Given the description of an element on the screen output the (x, y) to click on. 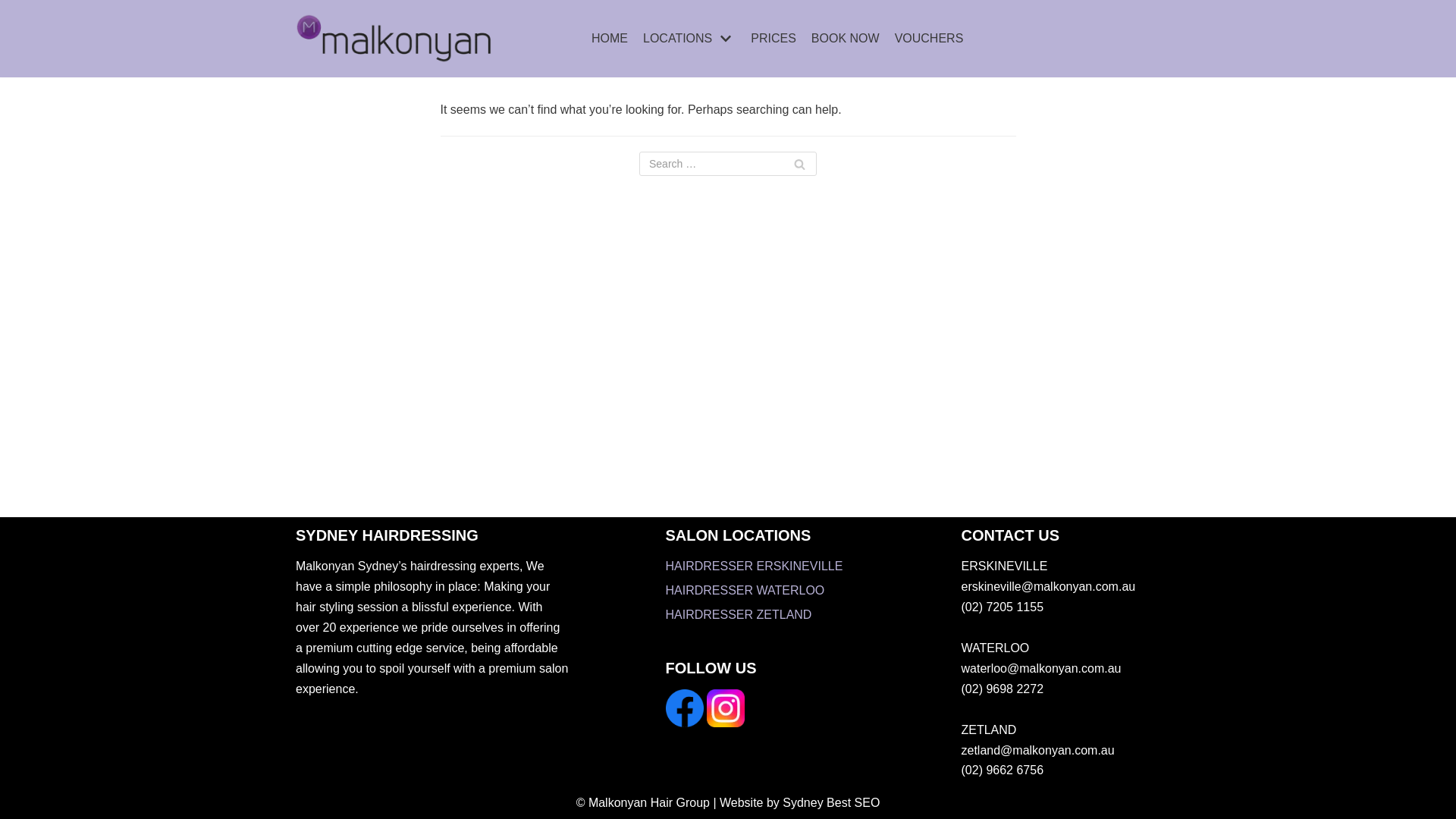
VOUCHERS Element type: text (928, 38)
HOME Element type: text (609, 38)
Search Element type: text (799, 163)
HAIRDRESSER WATERLOO Element type: text (745, 589)
Skip to content Element type: text (15, 31)
Malkonyan Element type: hover (394, 38)
BOOK NOW Element type: text (845, 38)
HAIRDRESSER ZETLAND Element type: text (738, 614)
PRICES Element type: text (773, 38)
Sydney Best SEO Element type: text (830, 802)
LOCATIONS Element type: text (689, 38)
  Element type: text (685, 722)
HAIRDRESSER ERSKINEVILLE Element type: text (754, 565)
